Given the description of an element on the screen output the (x, y) to click on. 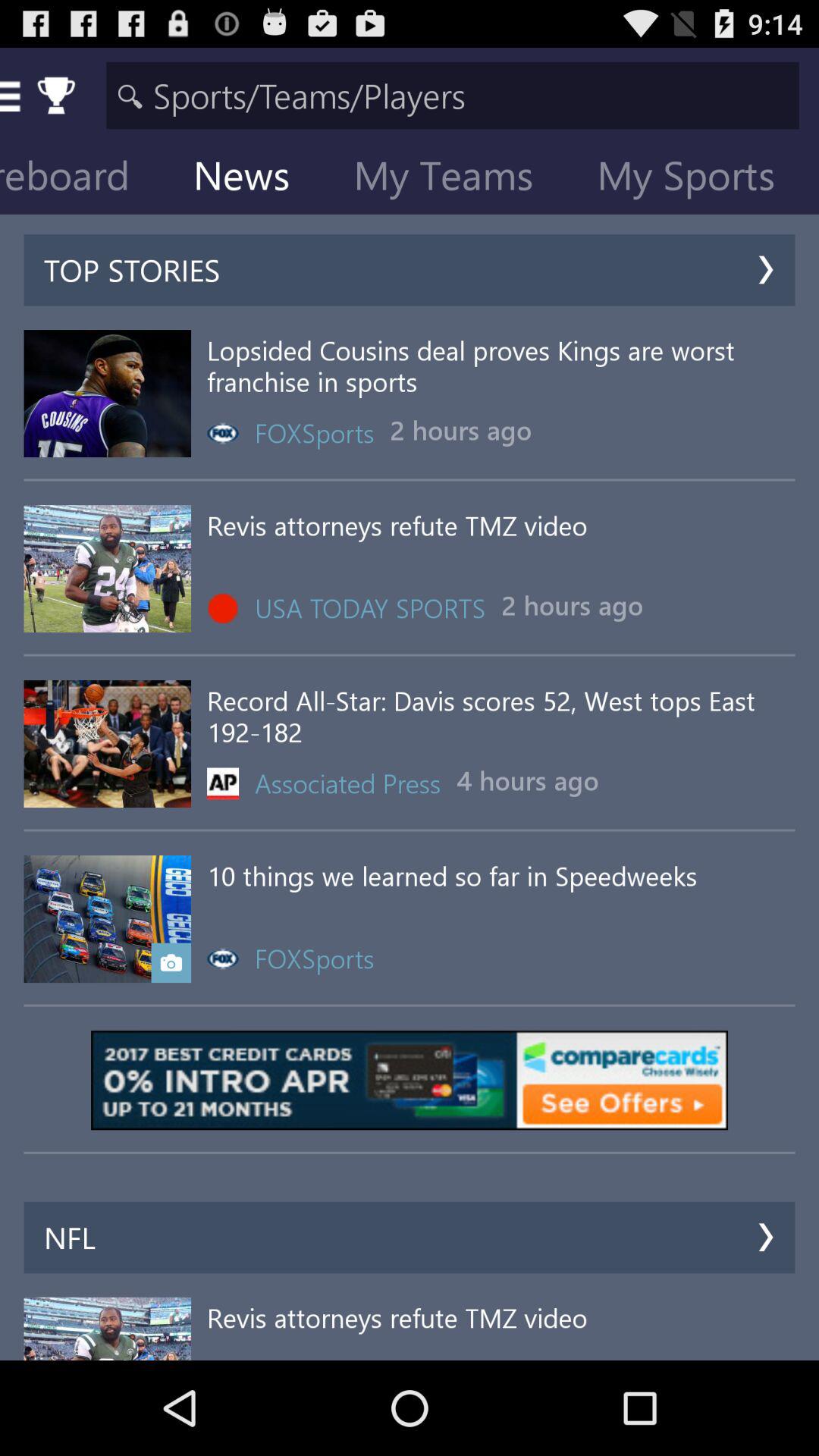
launch the item above top stories (253, 178)
